Given the description of an element on the screen output the (x, y) to click on. 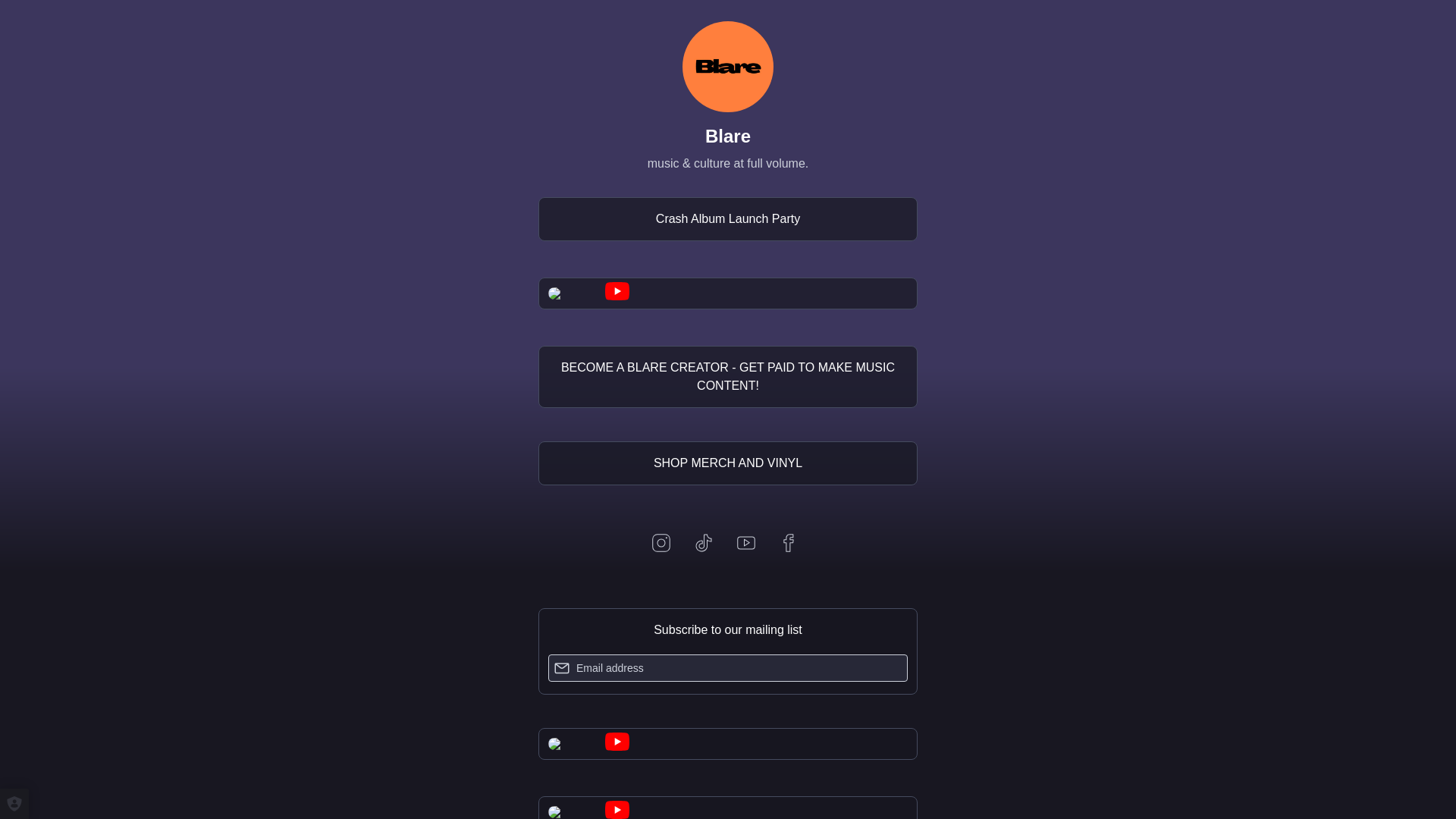
SHOP MERCH AND VINYL (727, 463)
BECOME A BLARE CREATOR - GET PAID TO MAKE MUSIC CONTENT! (727, 376)
Privacy settings (14, 803)
BECOME A BLARE CREATOR - GET PAID TO MAKE MUSIC CONTENT! (727, 376)
Crash Album Launch Party (727, 218)
Crash Album Launch Party (727, 218)
SHOP MERCH AND VINYL (727, 463)
